Given the description of an element on the screen output the (x, y) to click on. 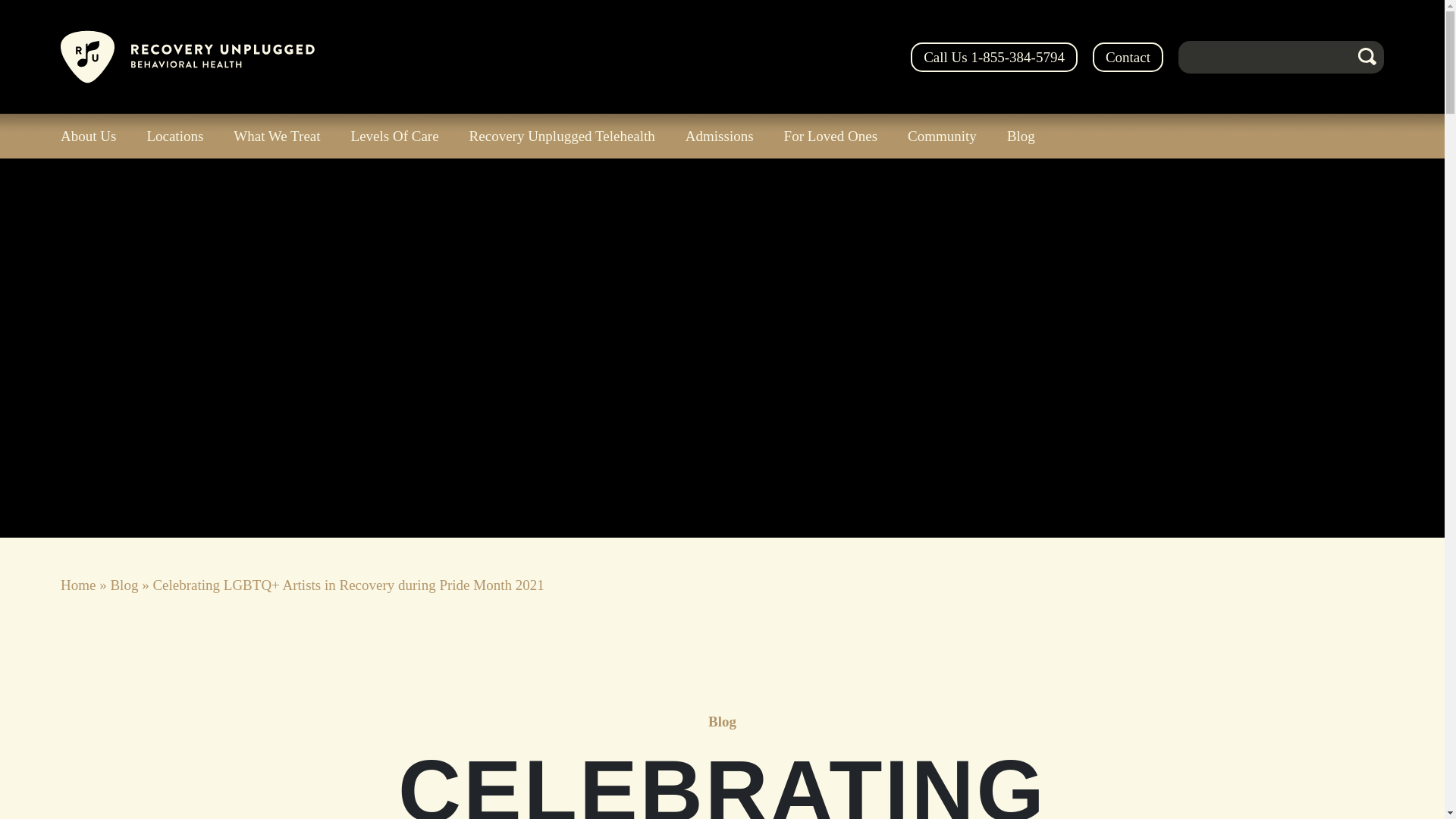
What We Treat (276, 135)
Locations (174, 135)
Recovery Unplugged Telehealth (561, 135)
Call Us 1-855-384-5794 (994, 57)
Levels Of Care (395, 135)
Call RU (994, 57)
About Us (96, 135)
Admissions (718, 135)
Recovery Unplugged Homepage (187, 56)
Contact (1128, 57)
